Given the description of an element on the screen output the (x, y) to click on. 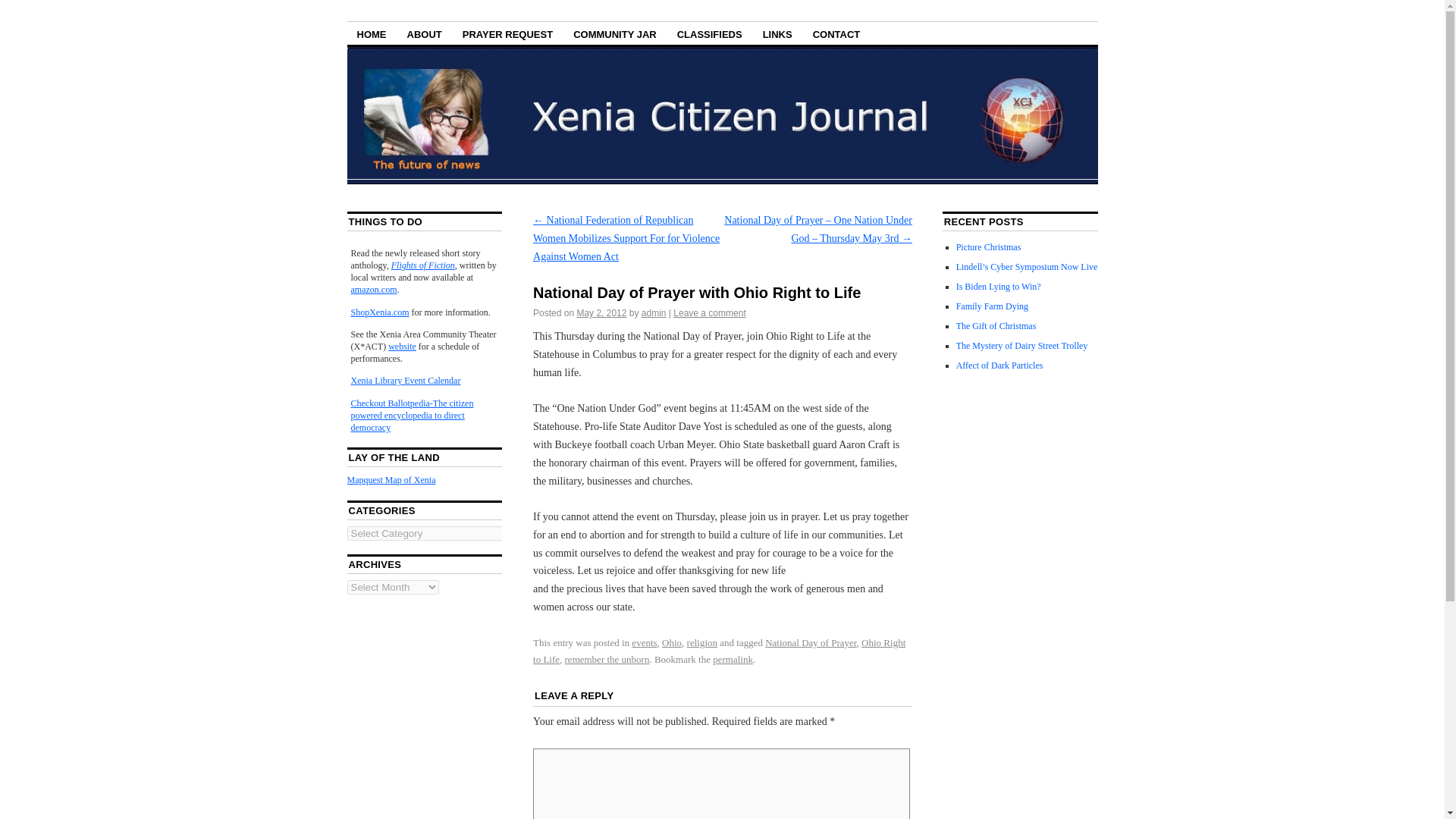
View all posts by admin (654, 312)
8:00 pm (601, 312)
Permalink to National Day of Prayer with Ohio Right to Life (732, 659)
PRAYER REQUEST (507, 33)
HOME (371, 33)
CONTACT (836, 33)
COMMUNITY JAR (614, 33)
CLASSIFIEDS (709, 33)
LINKS (777, 33)
Leave a comment (708, 312)
admin (654, 312)
ABOUT (424, 33)
May 2, 2012 (601, 312)
